Given the description of an element on the screen output the (x, y) to click on. 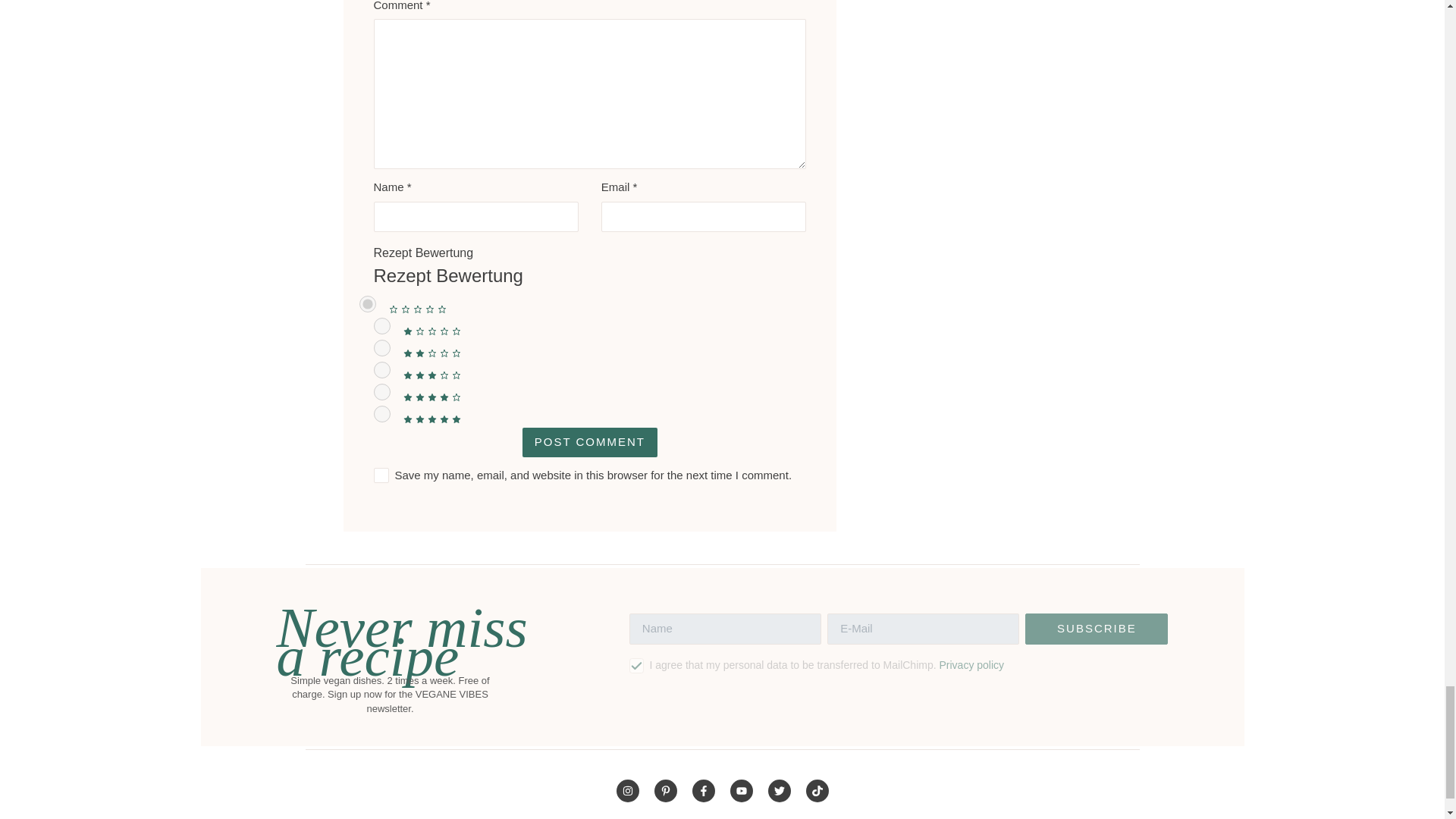
2 (381, 347)
1 (381, 325)
0 (367, 303)
